Given the description of an element on the screen output the (x, y) to click on. 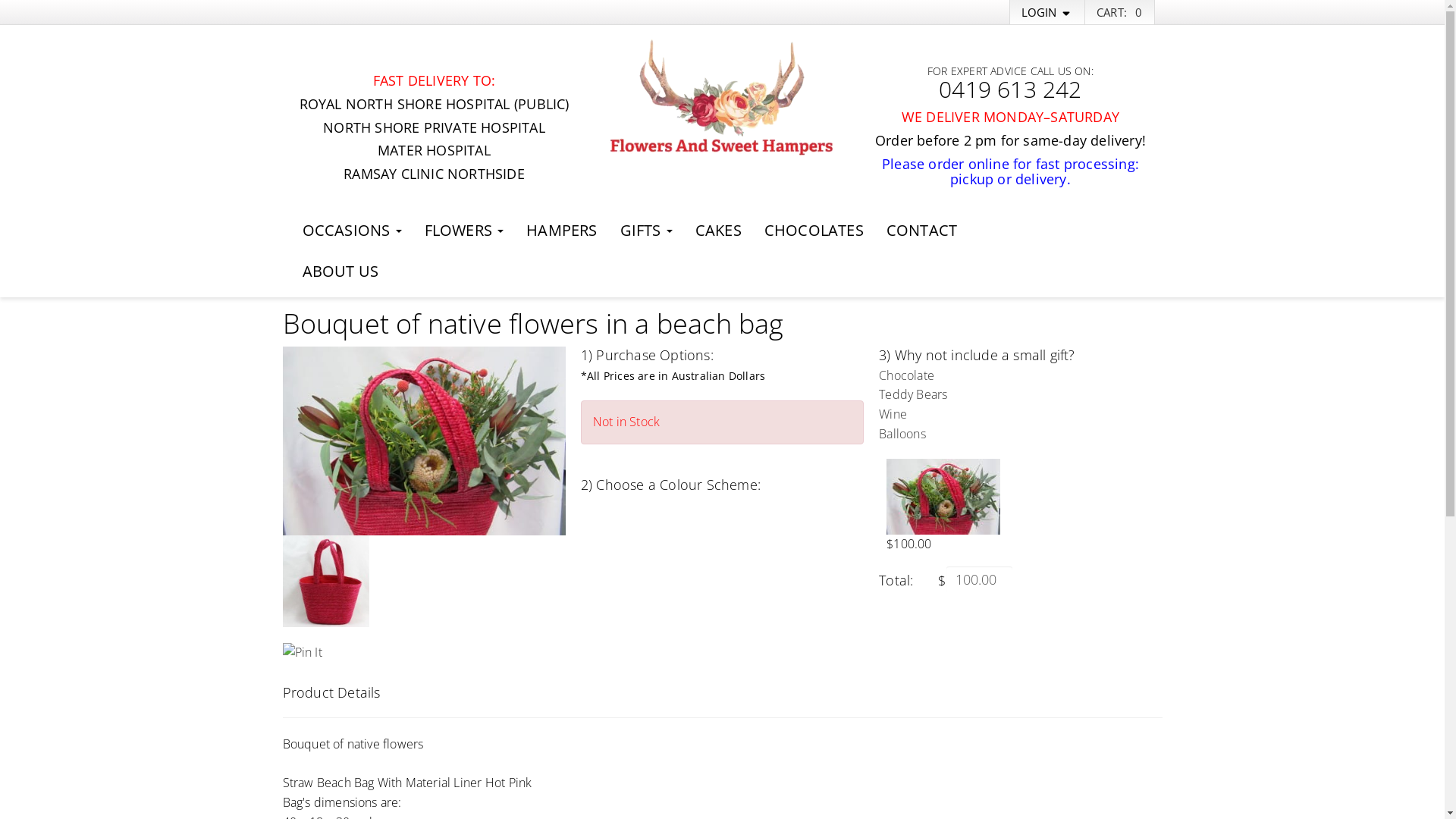
Florentina Flowers Element type: hover (721, 97)
GIFTS Element type: text (646, 231)
CAKES Element type: text (718, 231)
Wine Element type: text (892, 413)
ABOUT US Element type: text (340, 272)
Bouquet of native flowers in a beach bag Element type: hover (423, 440)
Chocolate Element type: text (906, 375)
Teddy Bears Element type: text (912, 393)
instageam Element type: hover (1107, 230)
Balloons Element type: text (901, 433)
CART: 0 Element type: text (1119, 11)
CHOCOLATES Element type: text (814, 231)
Pinterest Element type: hover (1139, 230)
OCCASIONS Element type: text (352, 231)
FLOWERS Element type: text (463, 231)
Bouquet of native flowers in a beach bag Element type: hover (325, 581)
CONTACT Element type: text (921, 231)
LOGIN Element type: text (1047, 12)
Pin It Element type: hover (301, 652)
Facebook Element type: hover (1084, 230)
HAMPERS Element type: text (561, 231)
